Given the description of an element on the screen output the (x, y) to click on. 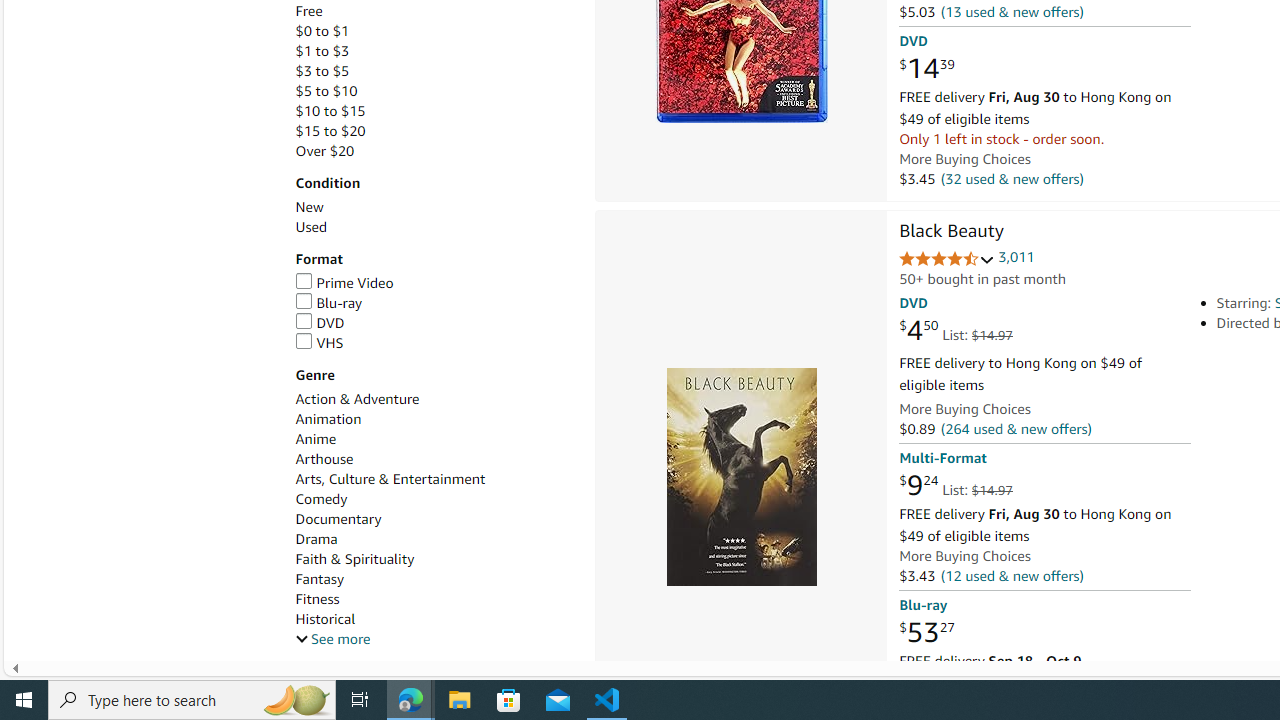
$1 to $3 (321, 51)
Skip to main search results (88, 651)
Free (308, 11)
Go back to filtering menu (84, 651)
Over $20 (434, 151)
Over $20 (324, 151)
New (308, 207)
Free (434, 11)
VHS (434, 343)
Arthouse (324, 459)
Action & Adventure (434, 399)
(264 used & new offers) (1015, 429)
Prime Video (434, 283)
Arts, Culture & Entertainment (434, 479)
